Given the description of an element on the screen output the (x, y) to click on. 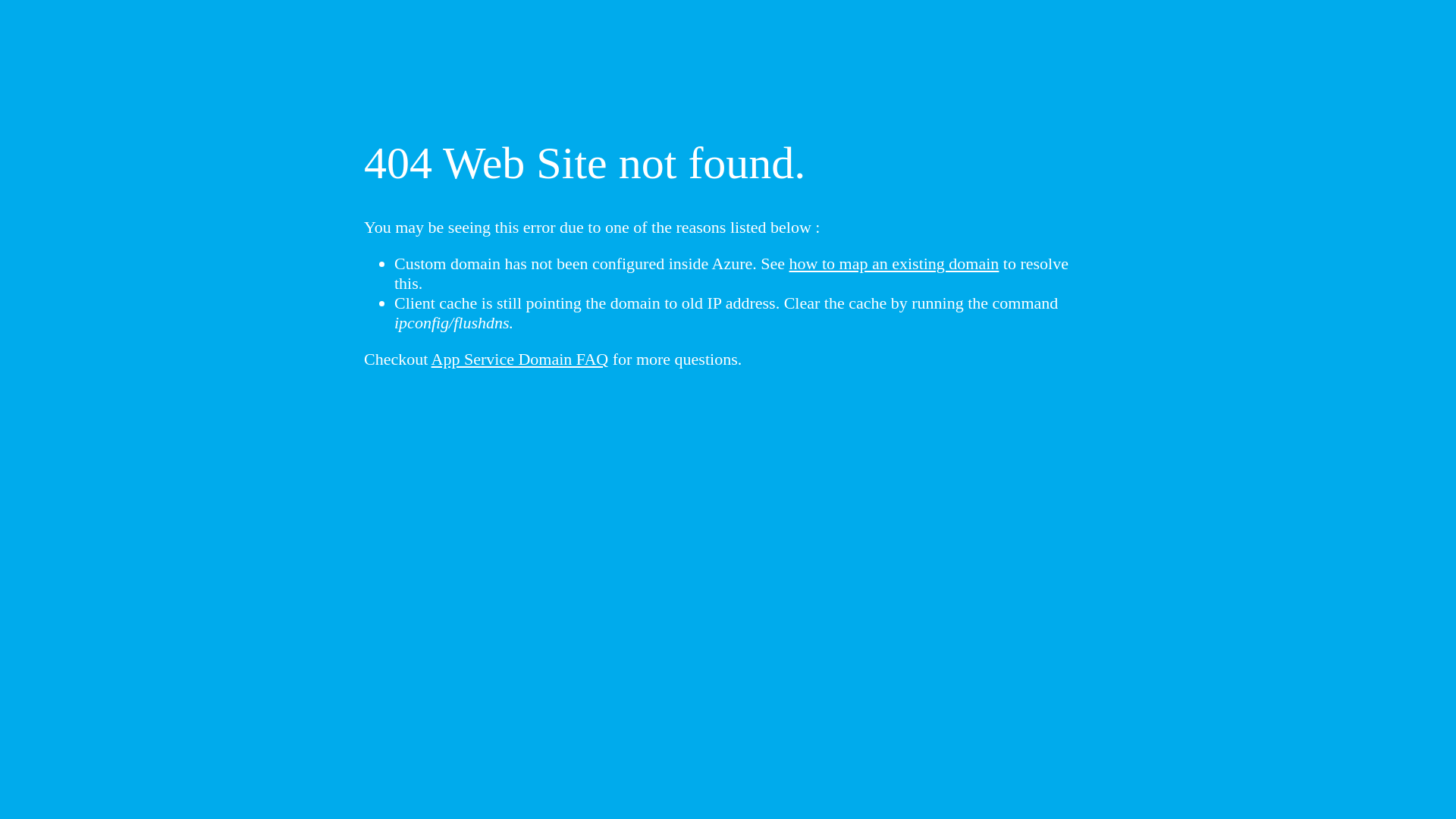
how to map an existing domain Element type: text (894, 263)
App Service Domain FAQ Element type: text (519, 358)
